Given the description of an element on the screen output the (x, y) to click on. 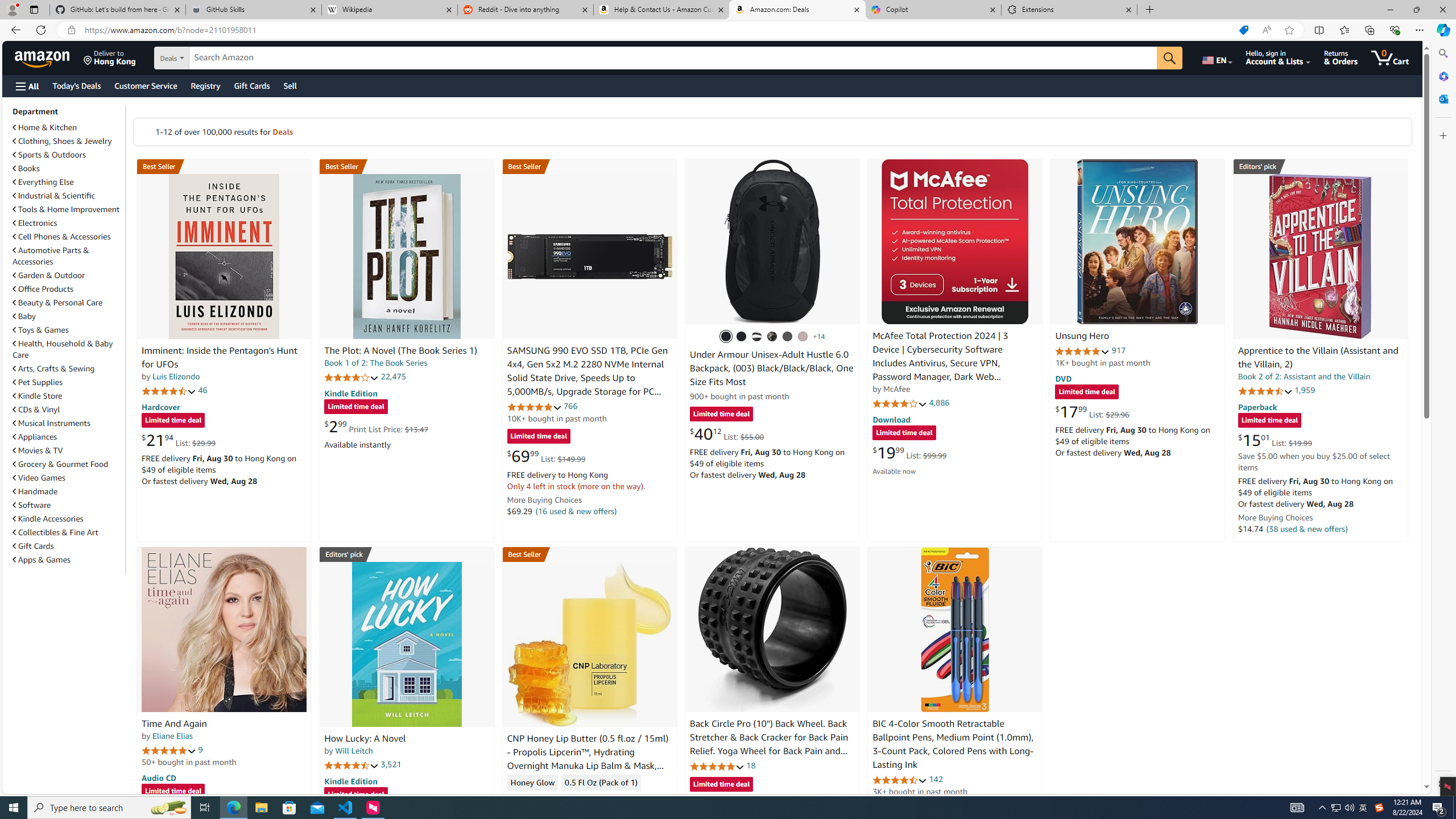
0 items in cart (1389, 57)
Books (67, 167)
Registry (205, 85)
Apps & Games (41, 559)
Will Leitch (353, 750)
Book 1 of 2: The Book Series (376, 362)
Collectibles & Fine Art (56, 532)
Skip to main content (48, 56)
Sports & Outdoors (49, 154)
$21.94 List: $29.99 (178, 439)
CDs & Vinyl (36, 409)
Pet Supplies (37, 381)
Best Seller in Unexplained Mysteries (223, 165)
